Given the description of an element on the screen output the (x, y) to click on. 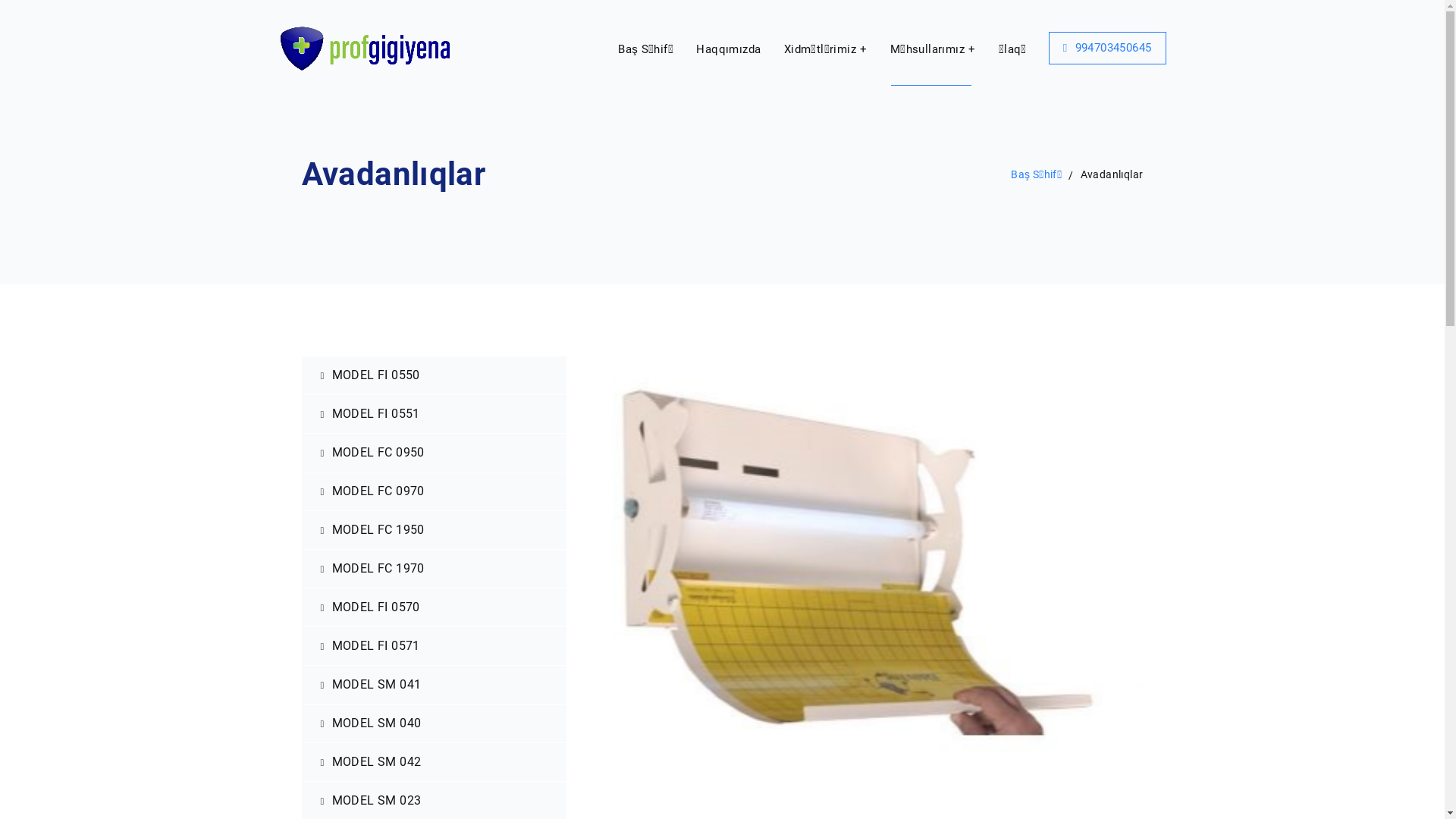
MODEL SM 040 Element type: text (434, 723)
MODEL FI 0551 Element type: text (434, 414)
MODEL FC 1950 Element type: text (434, 530)
MODEL FC 1970 Element type: text (434, 568)
994703450645 Element type: text (1107, 47)
MODEL FI 0571 Element type: text (434, 646)
MODEL FC 0970 Element type: text (434, 491)
MODEL SM 041 Element type: text (434, 684)
MODEL SM 042 Element type: text (434, 762)
MODEL FI 0550 Element type: text (434, 375)
MODEL FC 0950 Element type: text (434, 452)
MODEL FI 0570 Element type: text (434, 607)
